Given the description of an element on the screen output the (x, y) to click on. 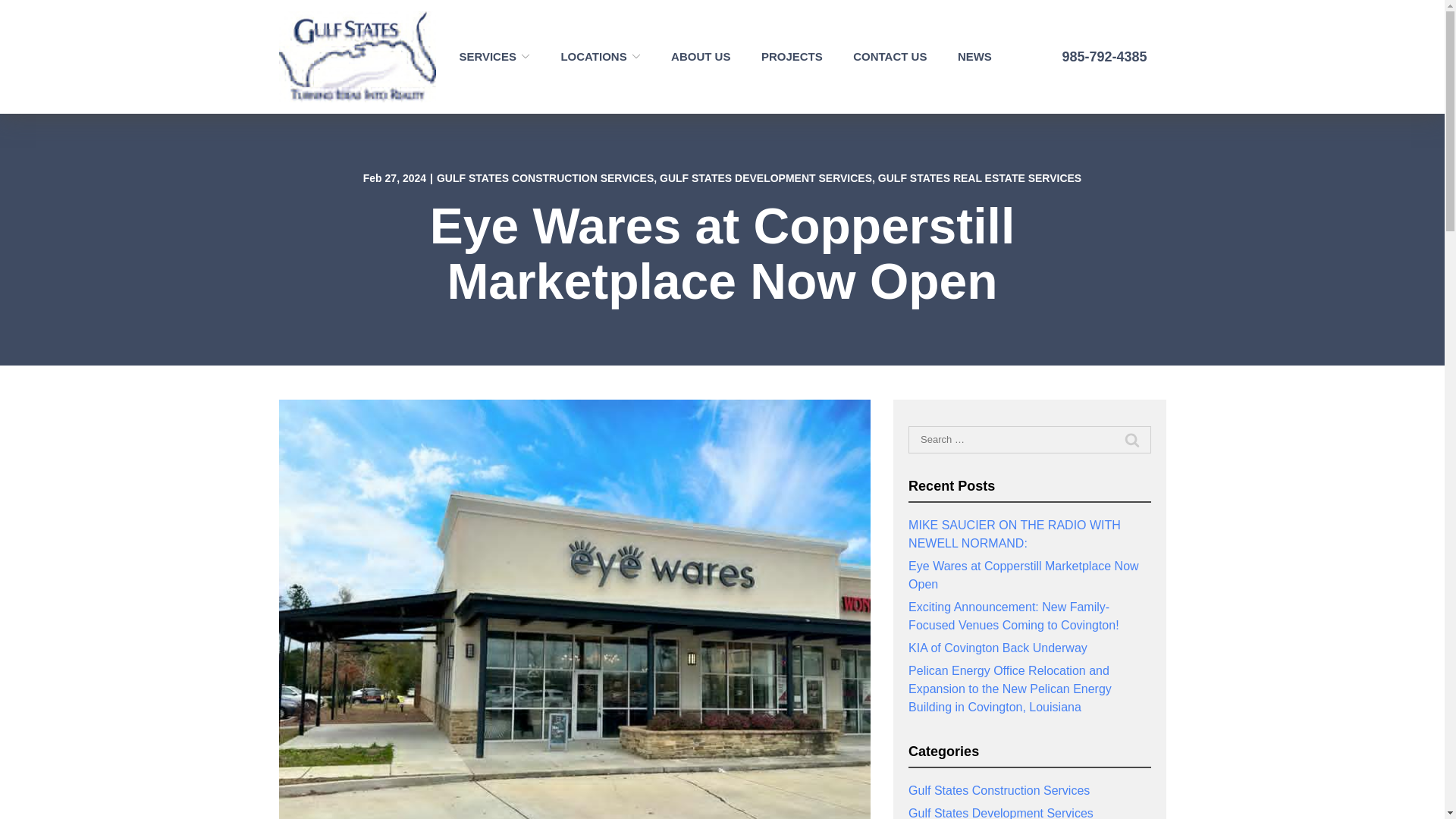
LOCATIONS (600, 56)
GULF STATES CONSTRUCTION SERVICES (544, 177)
GULF STATES REAL ESTATE SERVICES (979, 177)
SERVICES (493, 56)
NEWS (974, 56)
PROJECTS (791, 56)
985-792-4385 (1090, 56)
CONTACT US (889, 56)
ABOUT US (700, 56)
GULF STATES DEVELOPMENT SERVICES (765, 177)
